Given the description of an element on the screen output the (x, y) to click on. 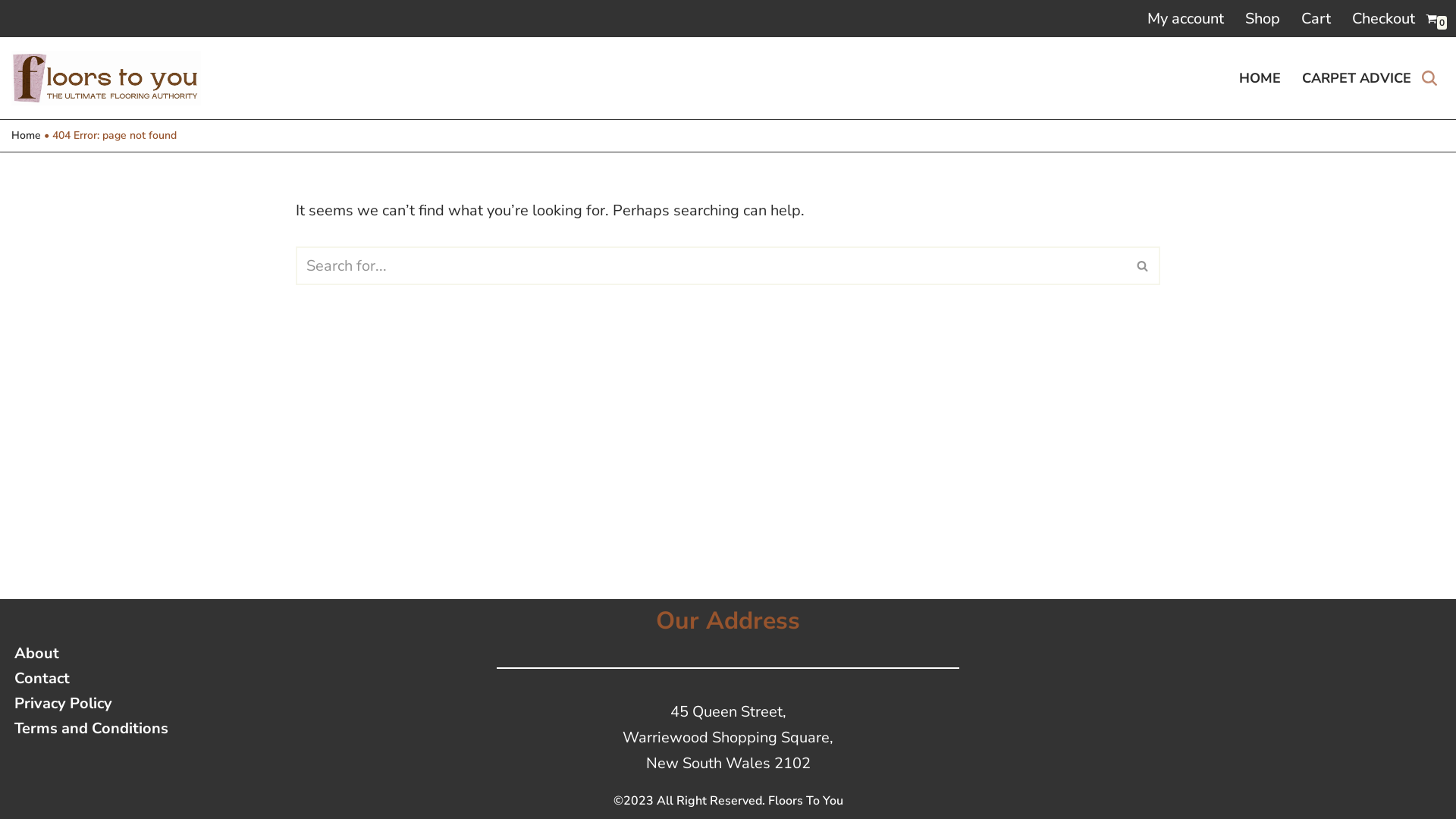
CARPET ADVICE Element type: text (1356, 77)
My account Element type: text (1185, 18)
HOME Element type: text (1259, 77)
0 Element type: text (1431, 18)
Contact Element type: text (91, 677)
Terms and Conditions Element type: text (91, 727)
Privacy Policy Element type: text (91, 702)
Shop Element type: text (1262, 18)
About Element type: text (91, 652)
Cart Element type: text (1315, 18)
Skip to content Element type: text (11, 31)
Checkout Element type: text (1383, 18)
Home Element type: text (25, 135)
